Given the description of an element on the screen output the (x, y) to click on. 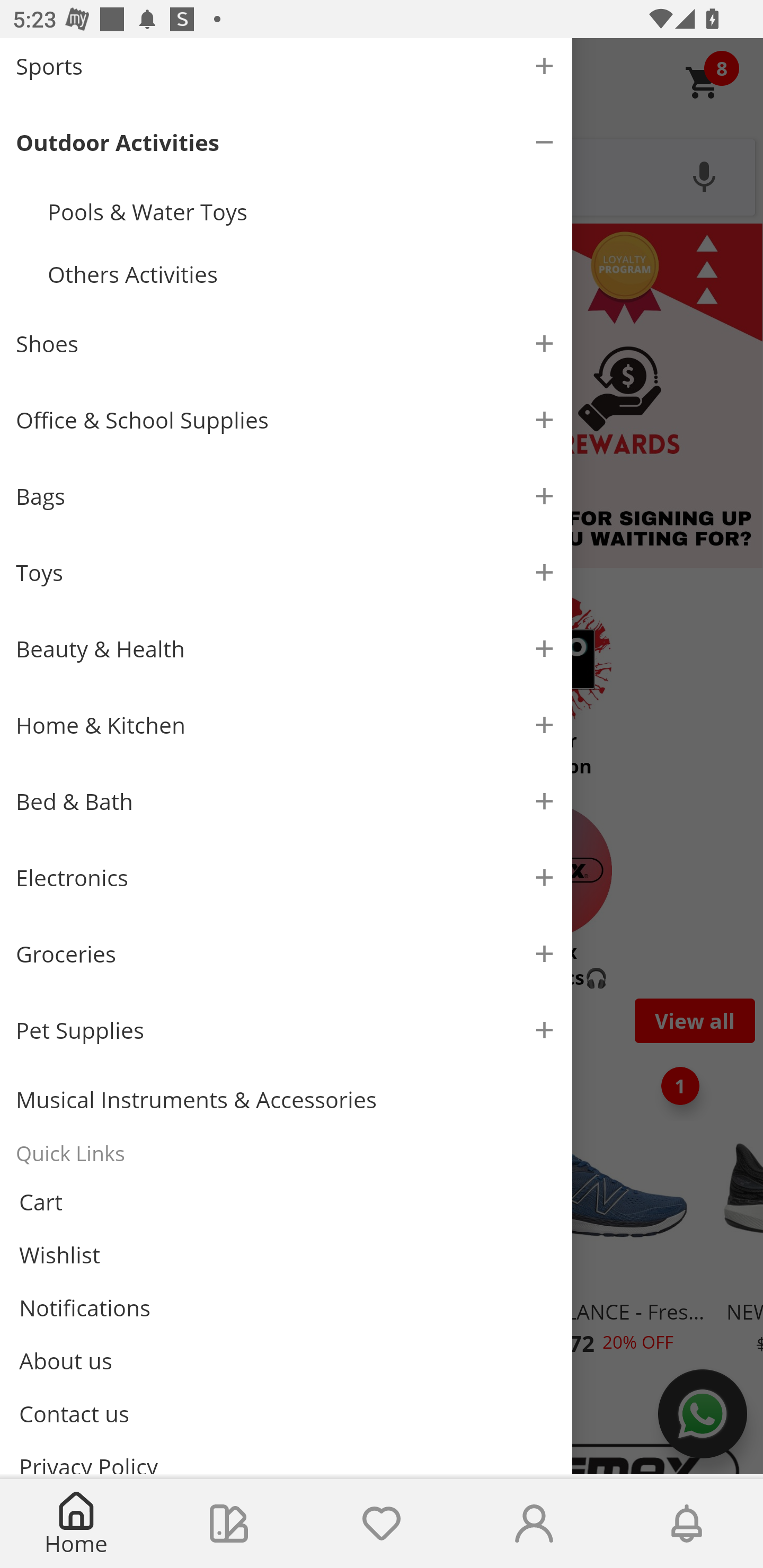
Sports (286, 71)
Pools & Water Toys (302, 211)
Others Activities (302, 274)
Shoes (286, 343)
Office & School Supplies (286, 419)
Bags (286, 495)
Toys (286, 572)
Beauty & Health (286, 648)
Home & Kitchen (286, 724)
Bed & Bath (286, 800)
Electronics (286, 876)
Groceries (286, 953)
Pet Supplies (286, 1029)
Musical Instruments & Accessories (286, 1098)
Cart (286, 1201)
Wishlist (286, 1254)
Notifications (286, 1307)
About us (286, 1360)
Contact us (286, 1413)
Privacy Policy (286, 1456)
Collections (228, 1523)
Wishlist (381, 1523)
Account (533, 1523)
Notifications (686, 1523)
